Given the description of an element on the screen output the (x, y) to click on. 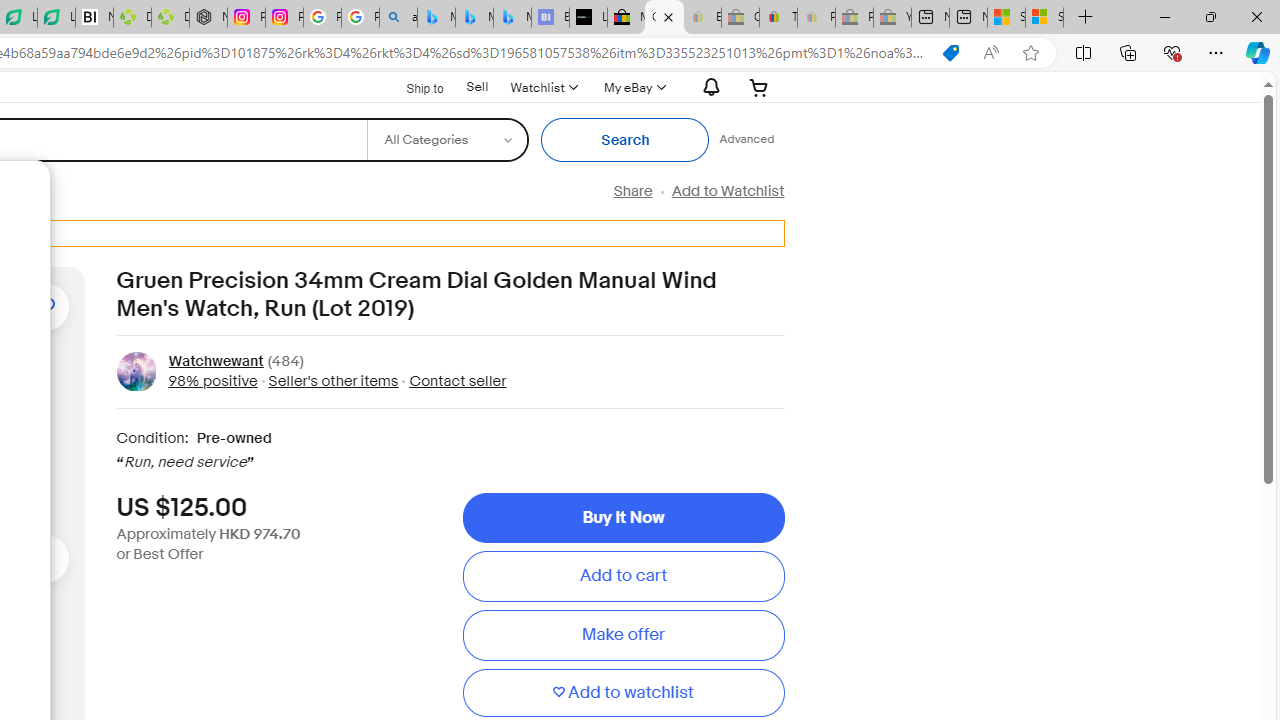
Nordace - Nordace Edin Collection (207, 17)
LendingTree - Compare Lenders (56, 17)
Next image - Item images thumbnails (44, 558)
Your shopping cart (759, 87)
Make offer (623, 635)
Payments Terms of Use | eBay.com - Sleeping (815, 17)
Press Room - eBay Inc. - Sleeping (853, 17)
98% positive (212, 380)
Contact seller (457, 380)
Buy It Now (623, 517)
